Given the description of an element on the screen output the (x, y) to click on. 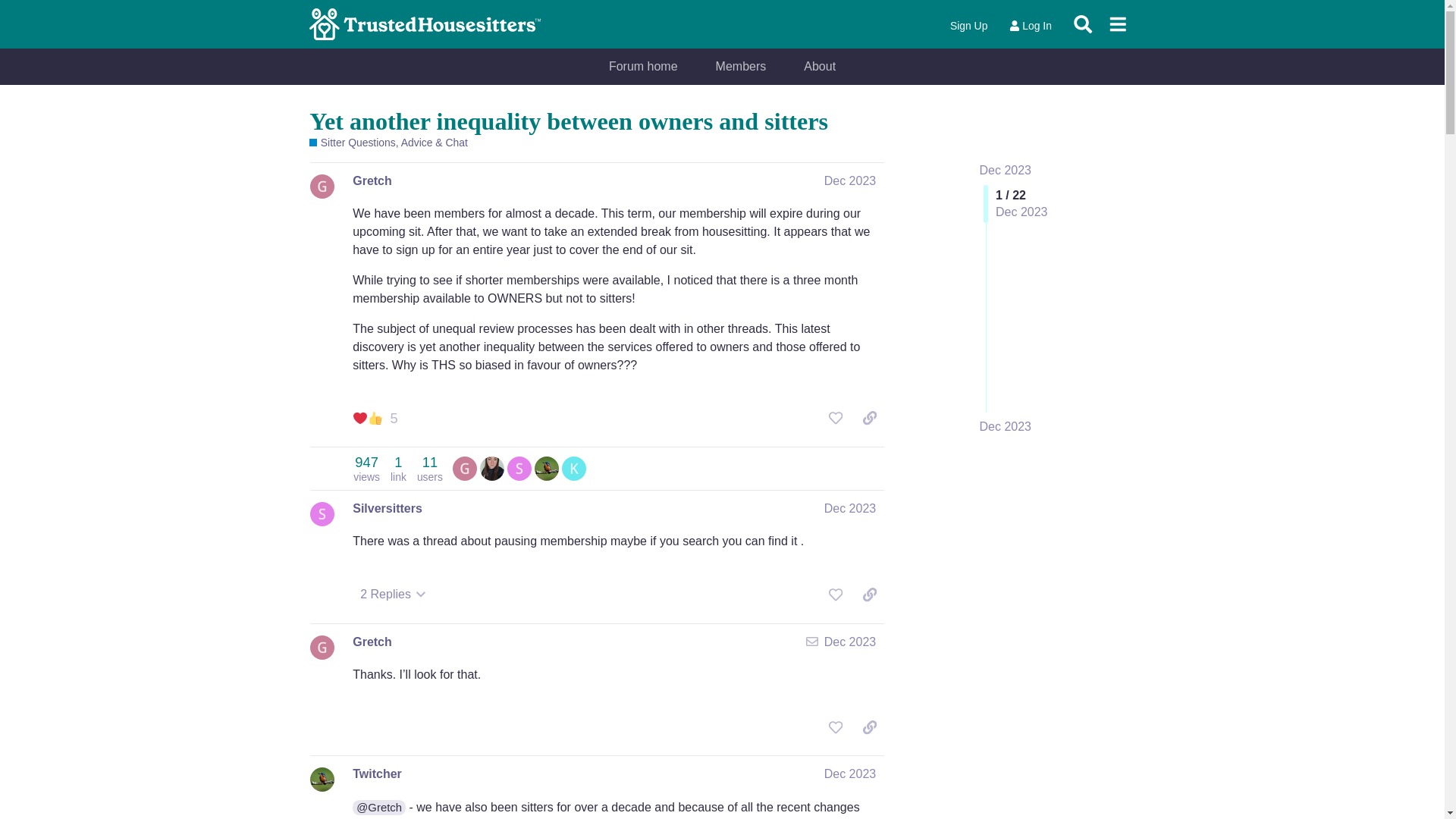
Dec 2023 (1005, 169)
Post date (850, 180)
Dec 2023 (366, 468)
Gretch (850, 180)
Silversitters (371, 180)
Log In (387, 508)
Dec 2023 (1030, 25)
2 Replies (1005, 426)
Forum home (392, 594)
Search (643, 66)
Members (1082, 23)
Sign Up (741, 66)
Dec 2023 (430, 468)
